Given the description of an element on the screen output the (x, y) to click on. 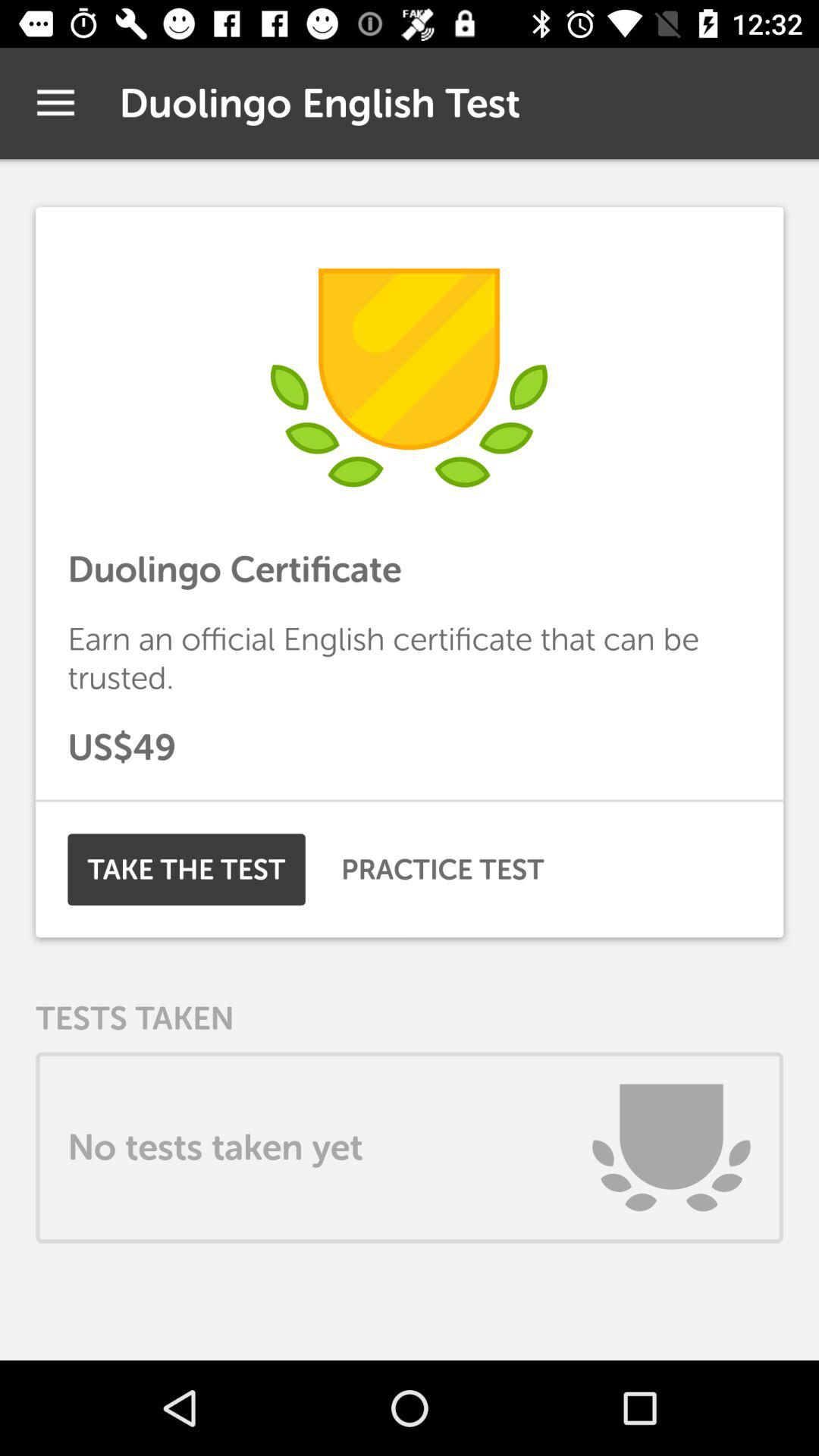
tap the icon to the left of the duolingo english test (55, 103)
